Given the description of an element on the screen output the (x, y) to click on. 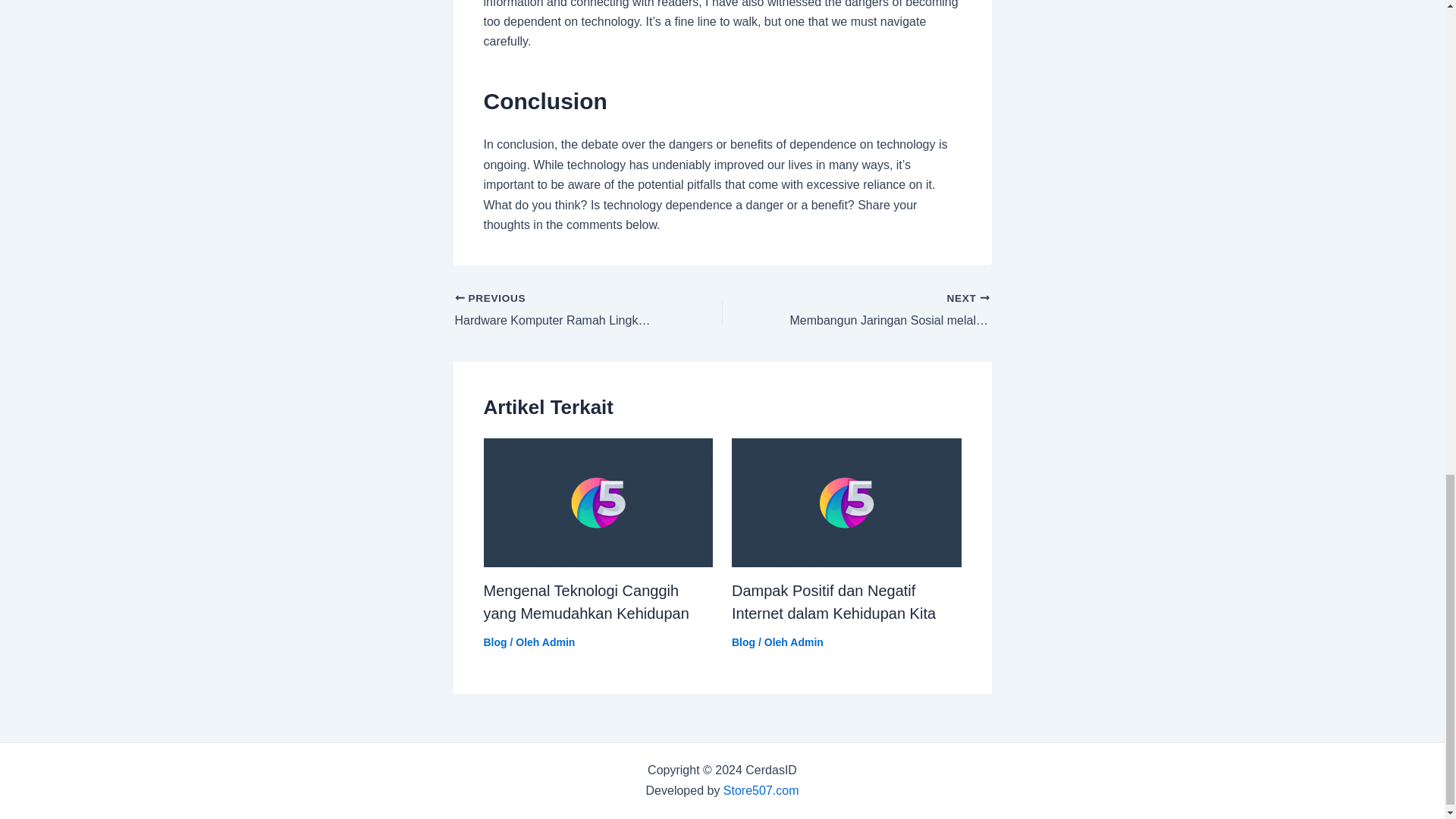
Hardware Komputer Ramah Lingkungan: Apa Saja Pilihannya? (561, 310)
Lihat seluruh tulisan oleh Admin (807, 642)
Blog (494, 642)
Admin (558, 642)
Membangun Jaringan Sosial melalui Internet (882, 310)
Admin (807, 642)
Blog (743, 642)
Mengenal Teknologi Canggih yang Memudahkan Kehidupan (585, 601)
Lihat seluruh tulisan oleh Admin (558, 642)
Dampak Positif dan Negatif Internet dalam Kehidupan Kita (882, 310)
Store507.com (834, 601)
